Given the description of an element on the screen output the (x, y) to click on. 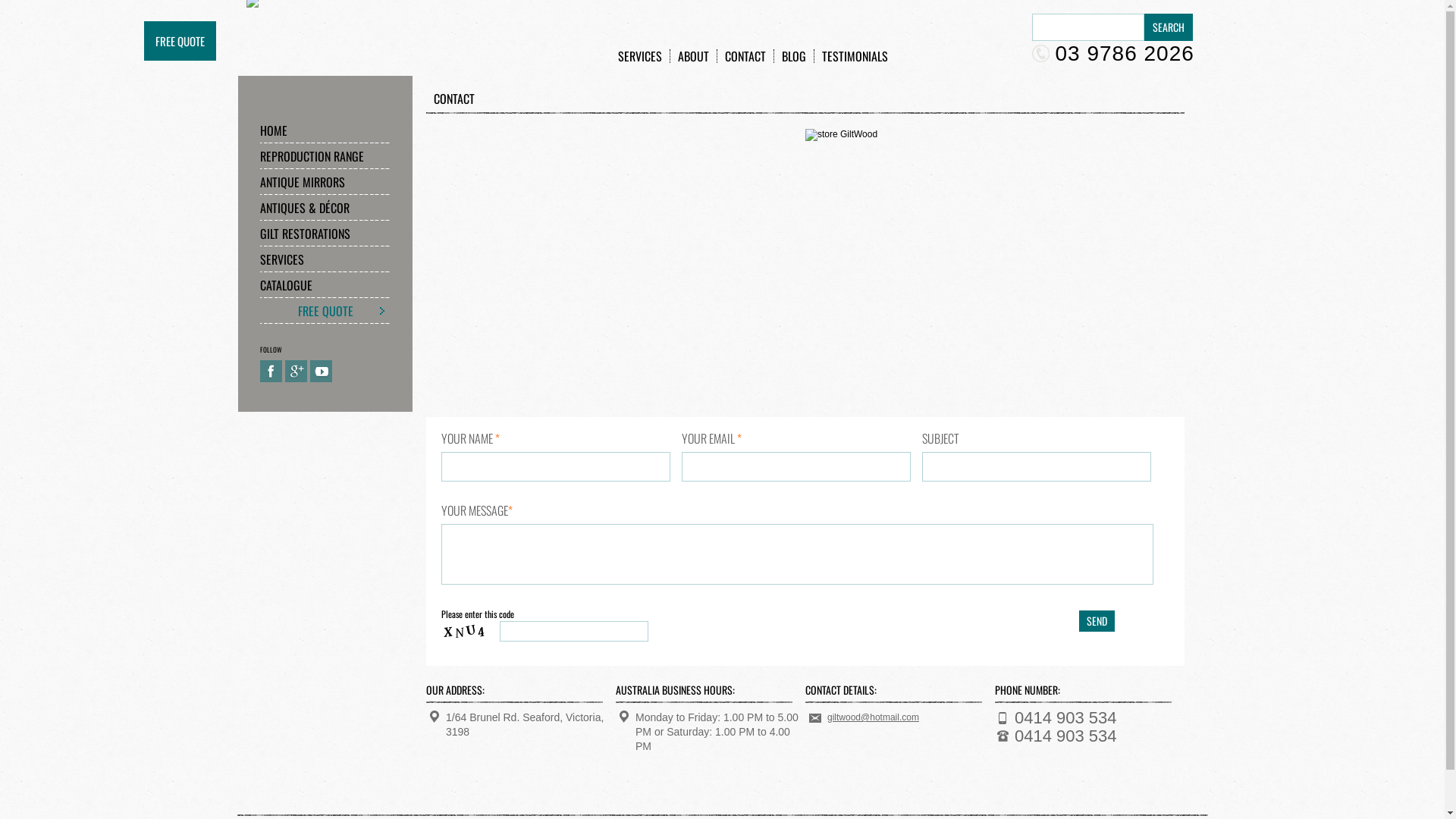
SERVICES Element type: text (639, 55)
giltwood@hotmail.com Element type: text (873, 717)
ABOUT Element type: text (693, 55)
03 9786 2026 Element type: text (1112, 53)
BLOG Element type: text (793, 55)
Google+ Element type: text (296, 371)
Facebook Element type: text (271, 371)
TESTIMONIALS Element type: text (854, 55)
Search Element type: text (1167, 26)
FREE QUOTE Element type: text (180, 40)
0414 903 534 Element type: text (1065, 735)
Send Element type: text (1096, 620)
HOME Element type: text (325, 130)
SERVICES Element type: text (325, 259)
ANTIQUE MIRRORS Element type: text (325, 181)
You Tube Element type: text (321, 371)
CATALOGUE Element type: text (325, 285)
0414 903 534 Element type: text (1065, 717)
CONTACT Element type: text (745, 55)
REPRODUCTION RANGE Element type: text (325, 156)
GILT RESTORATIONS Element type: text (325, 233)
FREE QUOTE Element type: text (325, 310)
